Given the description of an element on the screen output the (x, y) to click on. 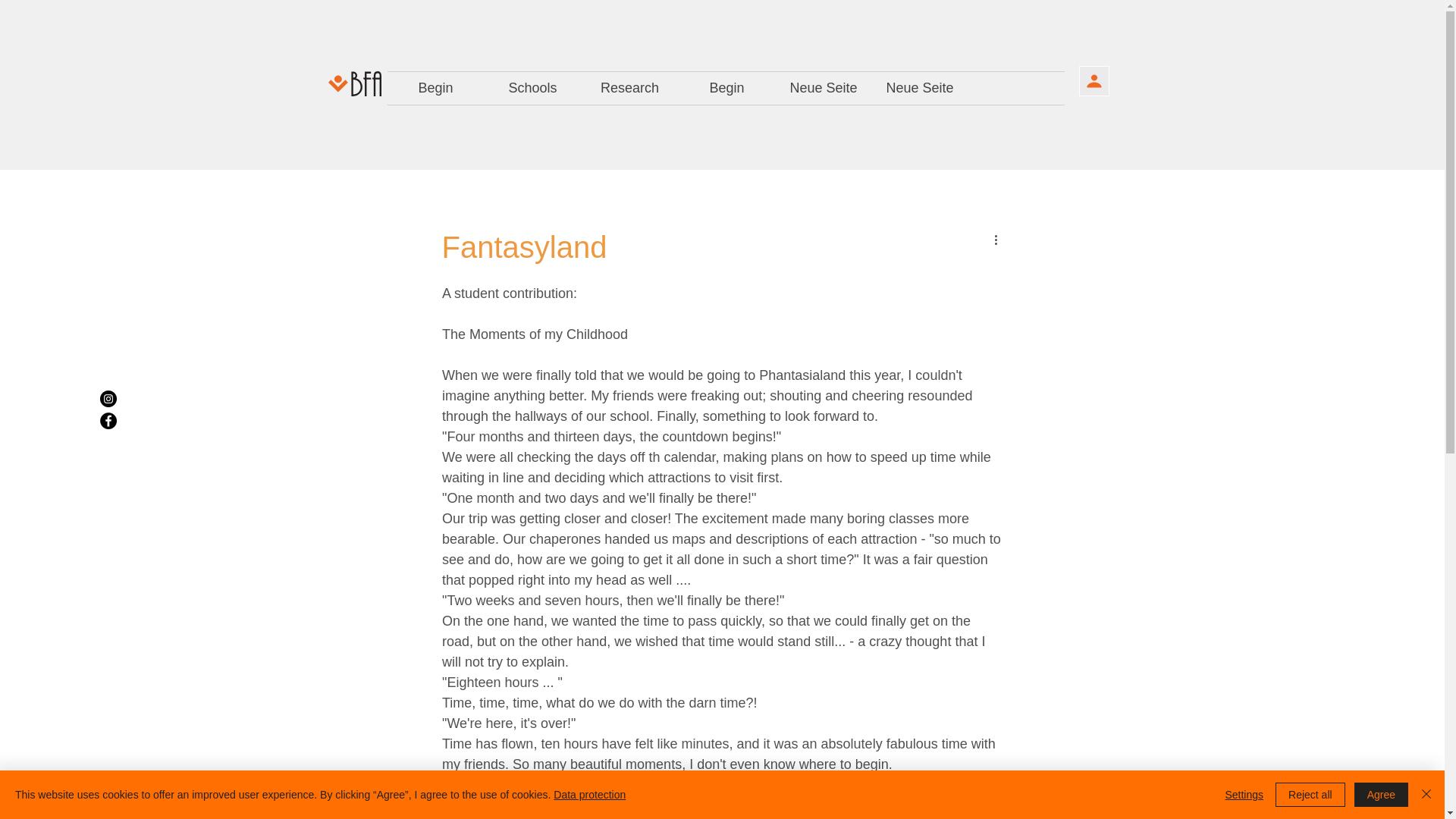
Research (629, 88)
Neue Seite (920, 88)
Schools (531, 88)
Begin (726, 88)
Begin (435, 88)
Neue Seite (822, 88)
